Given the description of an element on the screen output the (x, y) to click on. 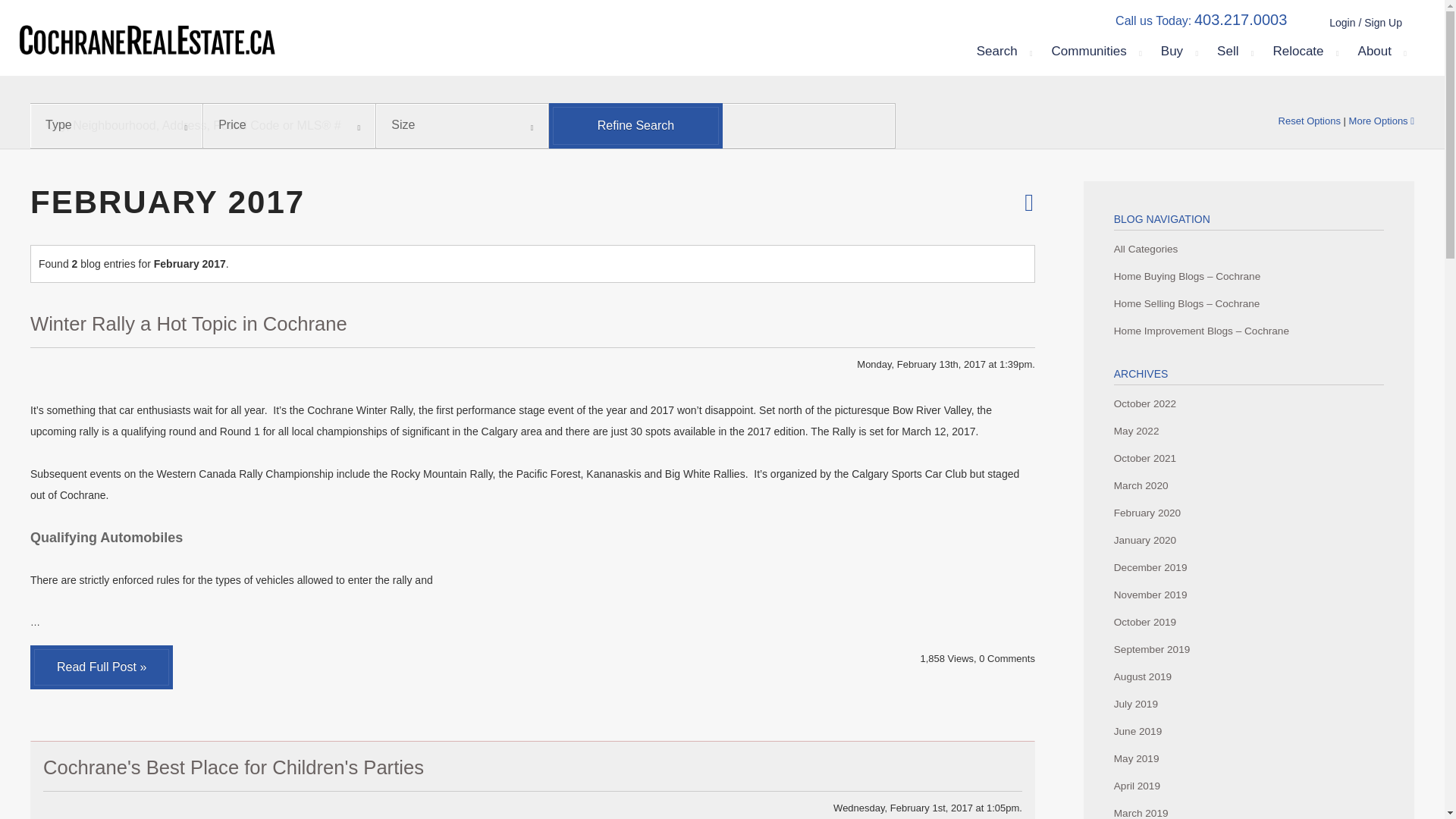
Search (1003, 51)
October 2021 (1248, 458)
403.217.0003 (1240, 19)
Winter Rally a Hot Topic in Cochrane (188, 323)
December 2019 (1248, 567)
January 2020 (1248, 540)
Communities (1095, 51)
Cochrane's Best Place for Children's Parties (233, 767)
October 2019 (1248, 622)
Read Full Post (101, 667)
October 2022 (1248, 403)
All Categories (1248, 248)
September 2019 (1248, 649)
May 2022 (1248, 431)
February 2020 (1248, 513)
